Given the description of an element on the screen output the (x, y) to click on. 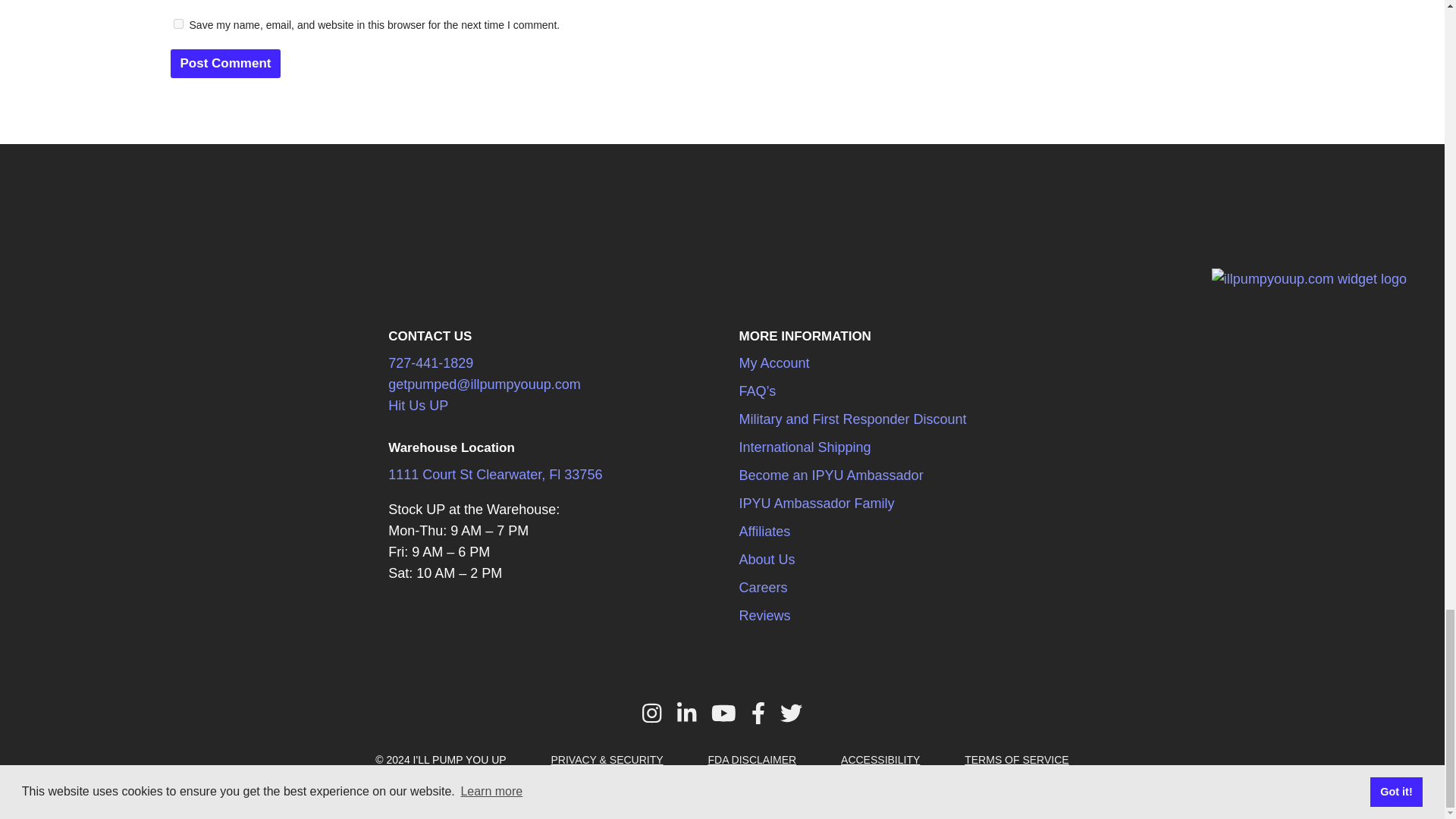
yes (178, 23)
Reviews (1308, 278)
Post Comment (225, 63)
